Given the description of an element on the screen output the (x, y) to click on. 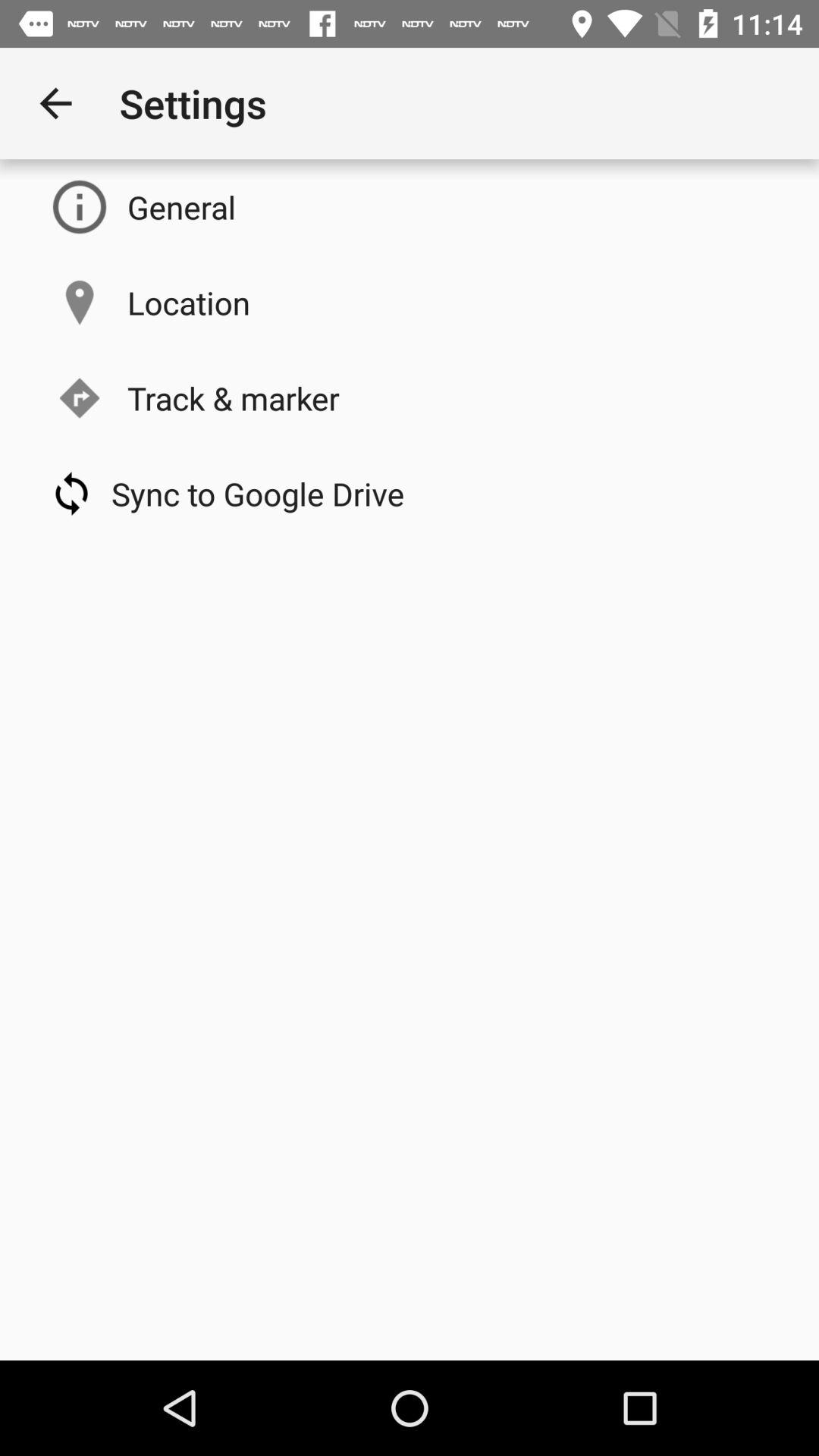
turn off the icon above location item (181, 206)
